Given the description of an element on the screen output the (x, y) to click on. 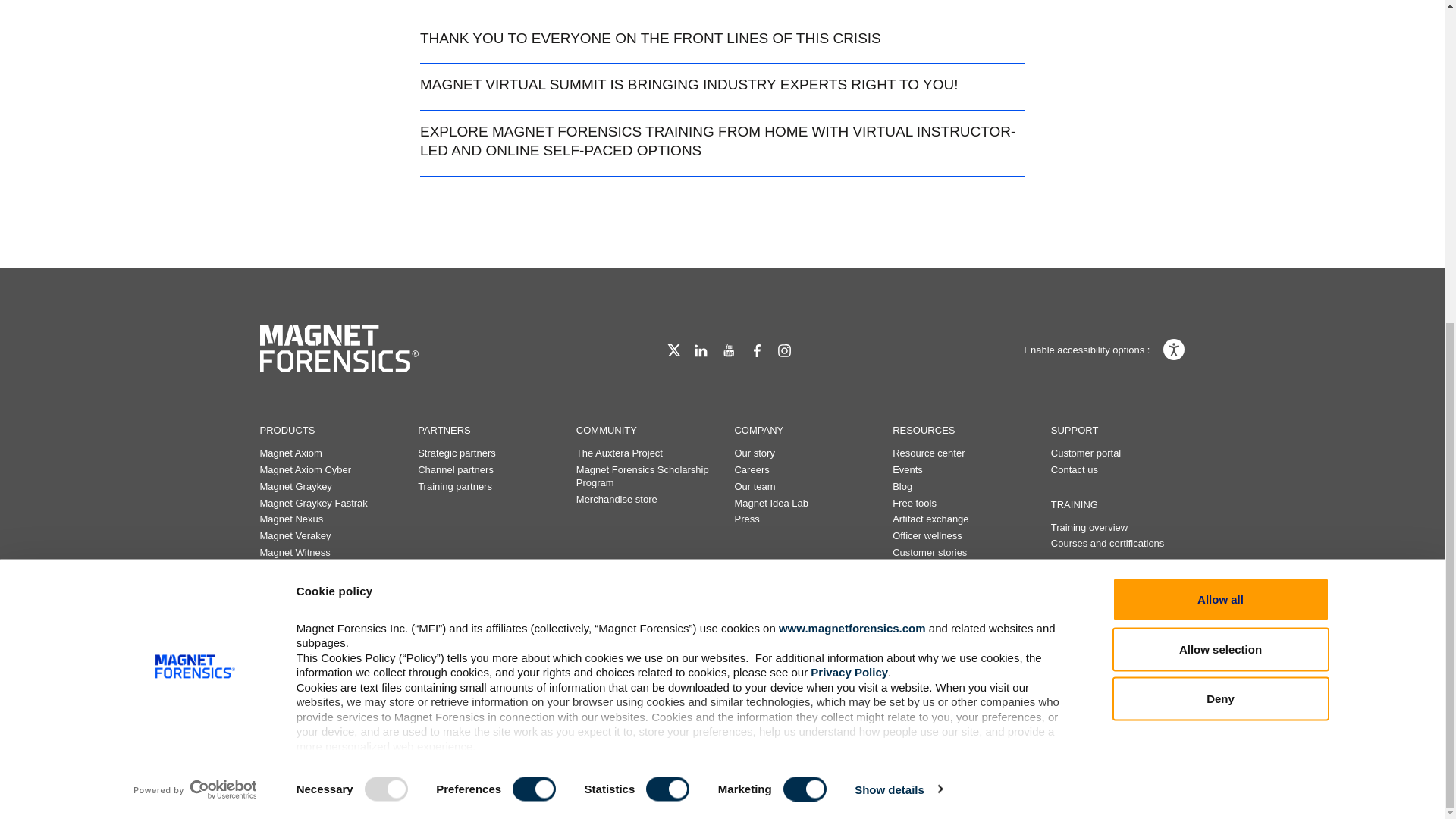
www.magnetforensics.com (852, 101)
Show details (898, 262)
Privacy Policy (849, 145)
